Given the description of an element on the screen output the (x, y) to click on. 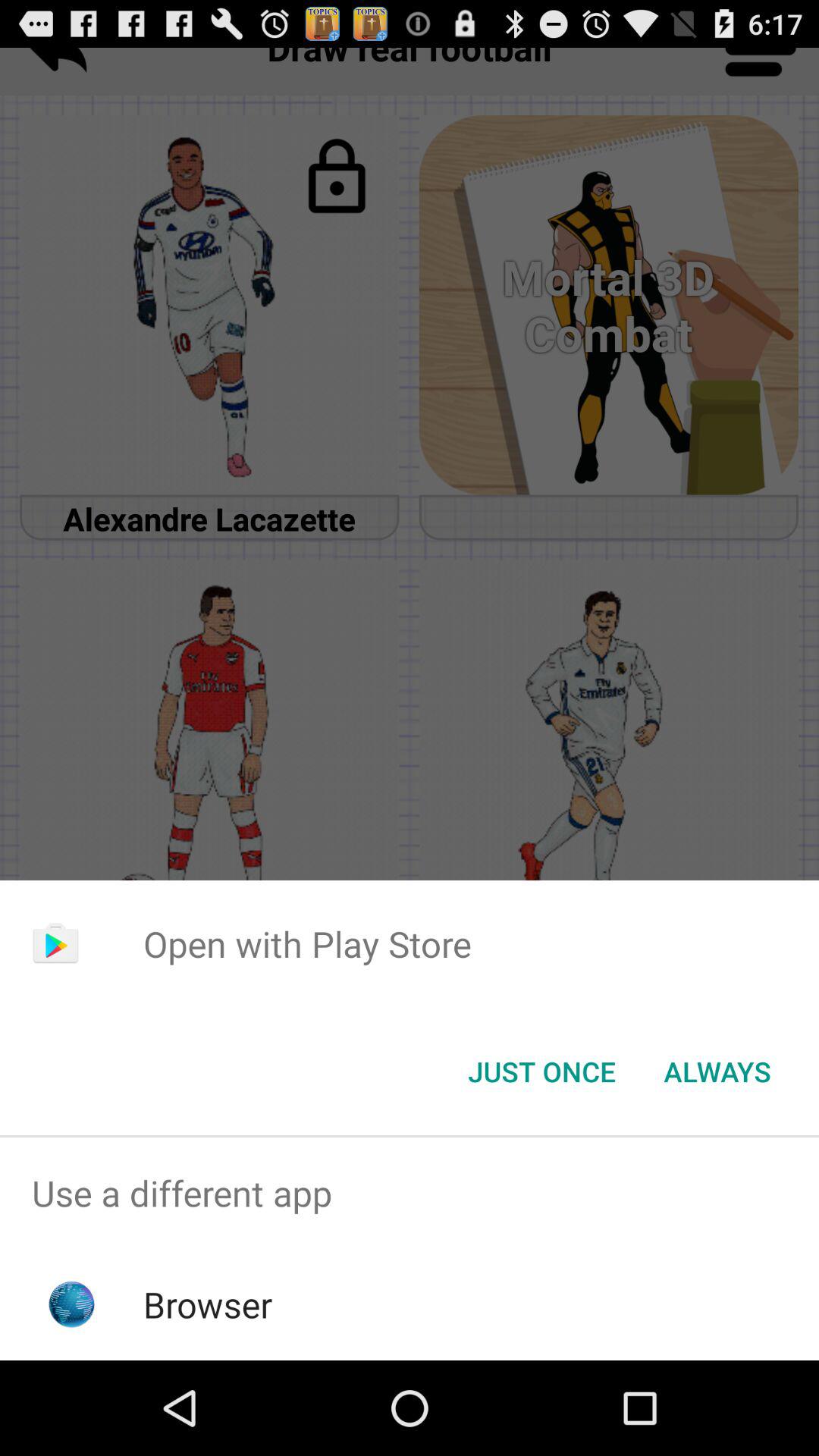
turn off the use a different icon (409, 1192)
